Given the description of an element on the screen output the (x, y) to click on. 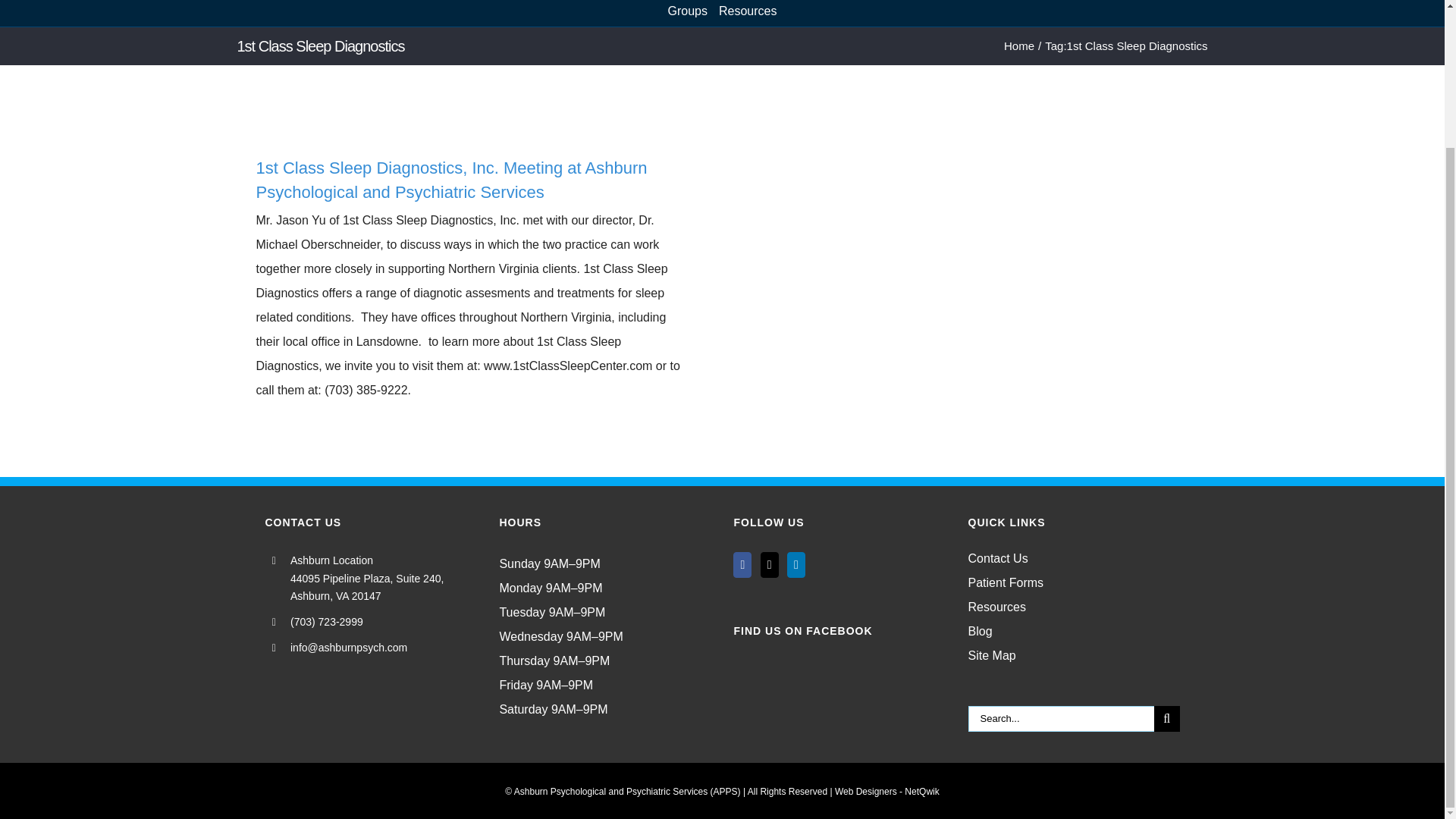
Web Designers (886, 791)
